Given the description of an element on the screen output the (x, y) to click on. 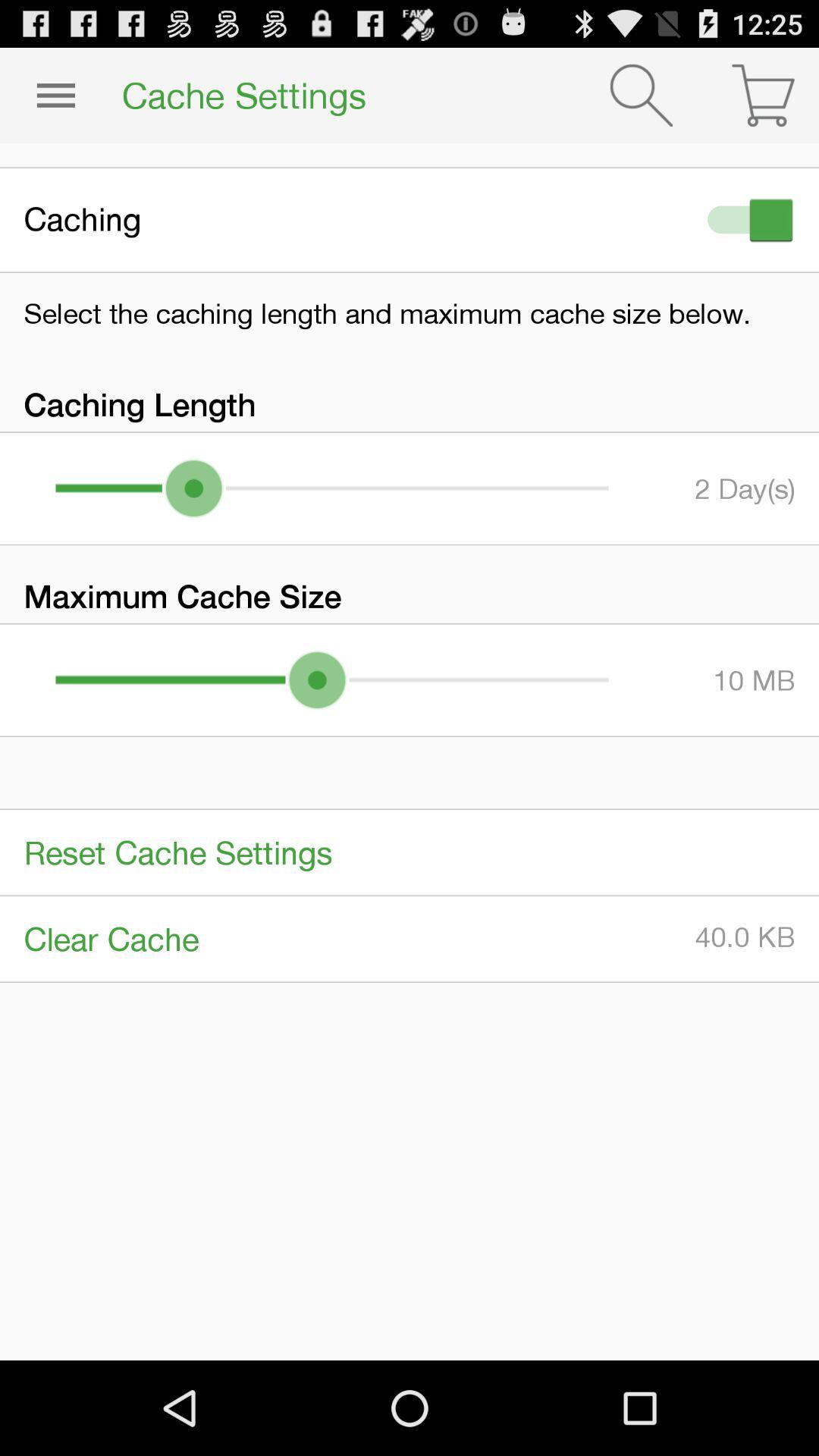
on off toggle switch (747, 219)
